Given the description of an element on the screen output the (x, y) to click on. 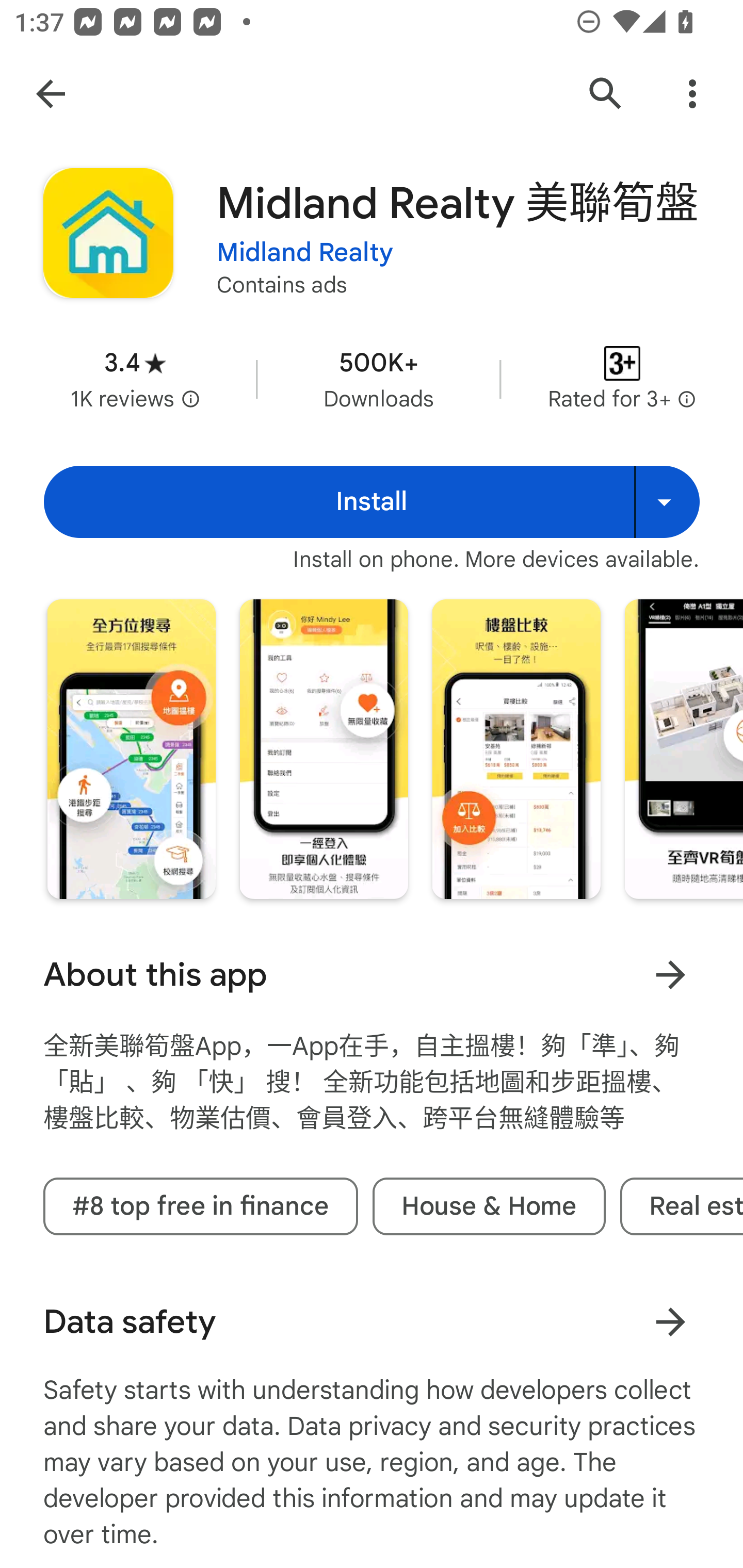
Navigate up (50, 93)
Search Google Play (605, 93)
More Options (692, 93)
Midland Realty (304, 253)
Average rating 3.4 stars in 1 thousand reviews (135, 379)
Content rating Rated for 3+ (622, 379)
Install Install Install on more devices (371, 501)
Install on more devices (667, 501)
Screenshot "1" of "7" (130, 748)
Screenshot "2" of "7" (323, 748)
Screenshot "3" of "7" (515, 748)
About this app Learn more About this app (371, 974)
Learn more About this app (670, 974)
#8 top free in finance tag (200, 1206)
House & Home tag (488, 1206)
Data safety Learn more about data safety (371, 1321)
Learn more about data safety (670, 1321)
